Given the description of an element on the screen output the (x, y) to click on. 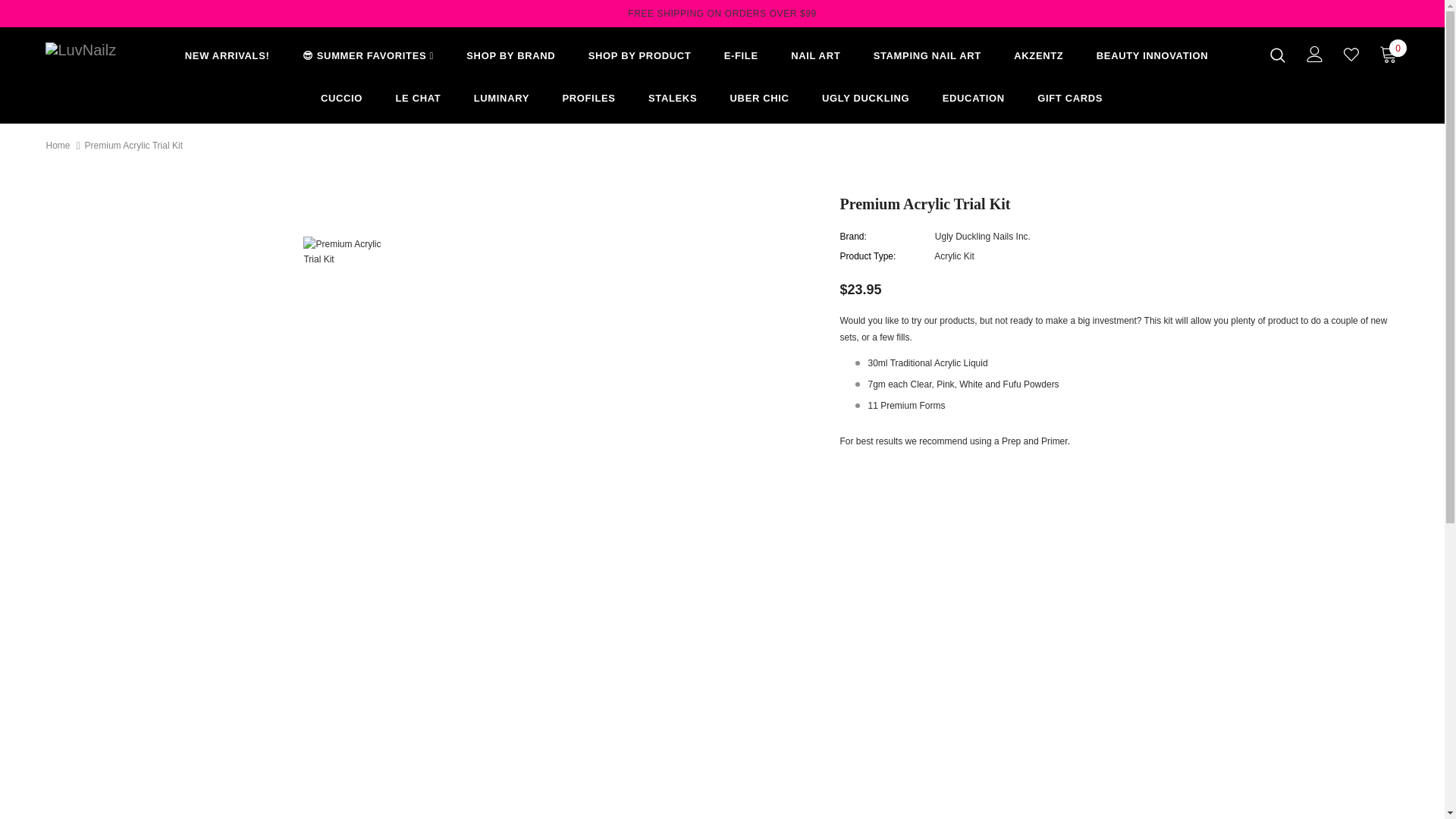
NEW ARRIVALS! (226, 58)
SHOP BY BRAND (509, 58)
